Given the description of an element on the screen output the (x, y) to click on. 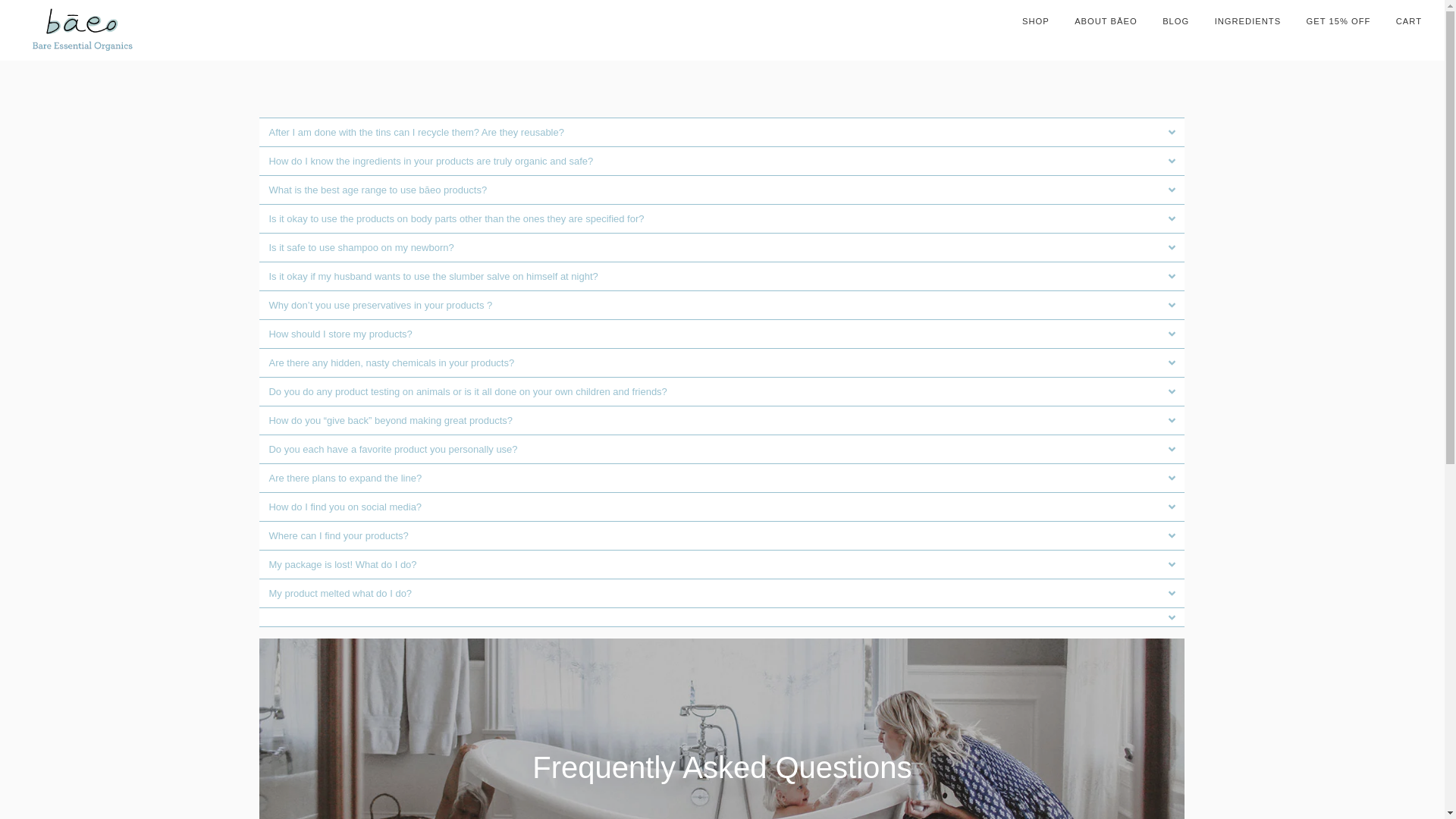
SHOP (1035, 22)
BLOG (1175, 22)
CART (1409, 22)
INGREDIENTS (1247, 22)
